Given the description of an element on the screen output the (x, y) to click on. 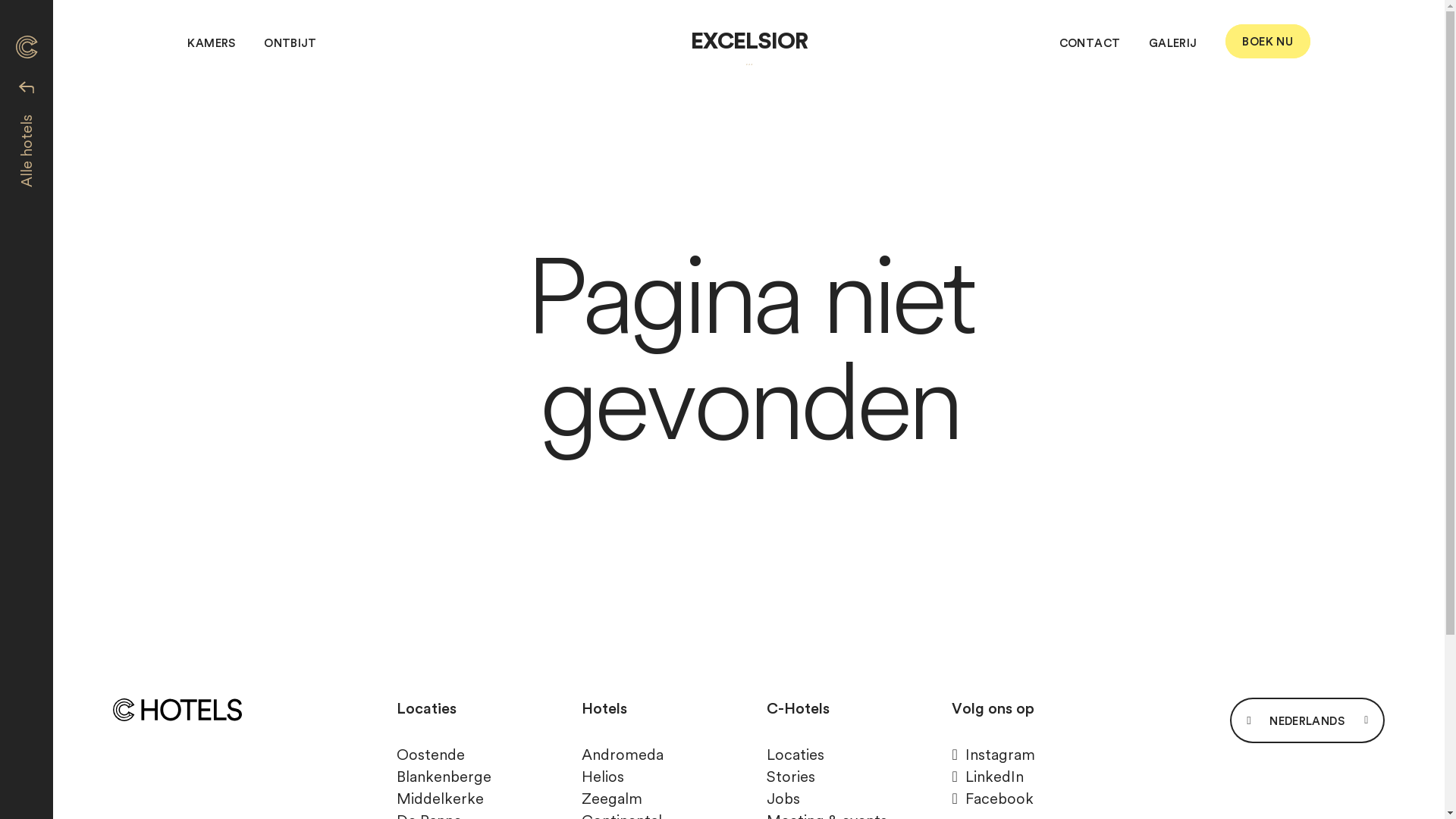
Facebook Element type: text (991, 798)
LinkedIn Element type: text (986, 776)
Helios Element type: text (602, 776)
Zeegalm Element type: text (611, 798)
Stories Element type: text (790, 776)
GALERIJ Element type: text (1172, 42)
Blankenberge Element type: text (443, 776)
KAMERS Element type: text (211, 42)
EXCELSIOR Element type: text (748, 45)
Middelkerke Element type: text (439, 798)
ONTBIJT Element type: text (289, 42)
Jobs Element type: text (783, 798)
Locaties Element type: text (795, 754)
CONTACT Element type: text (1089, 42)
Instagram Element type: text (992, 754)
Andromeda Element type: text (622, 754)
Oostende Element type: text (430, 754)
